Given the description of an element on the screen output the (x, y) to click on. 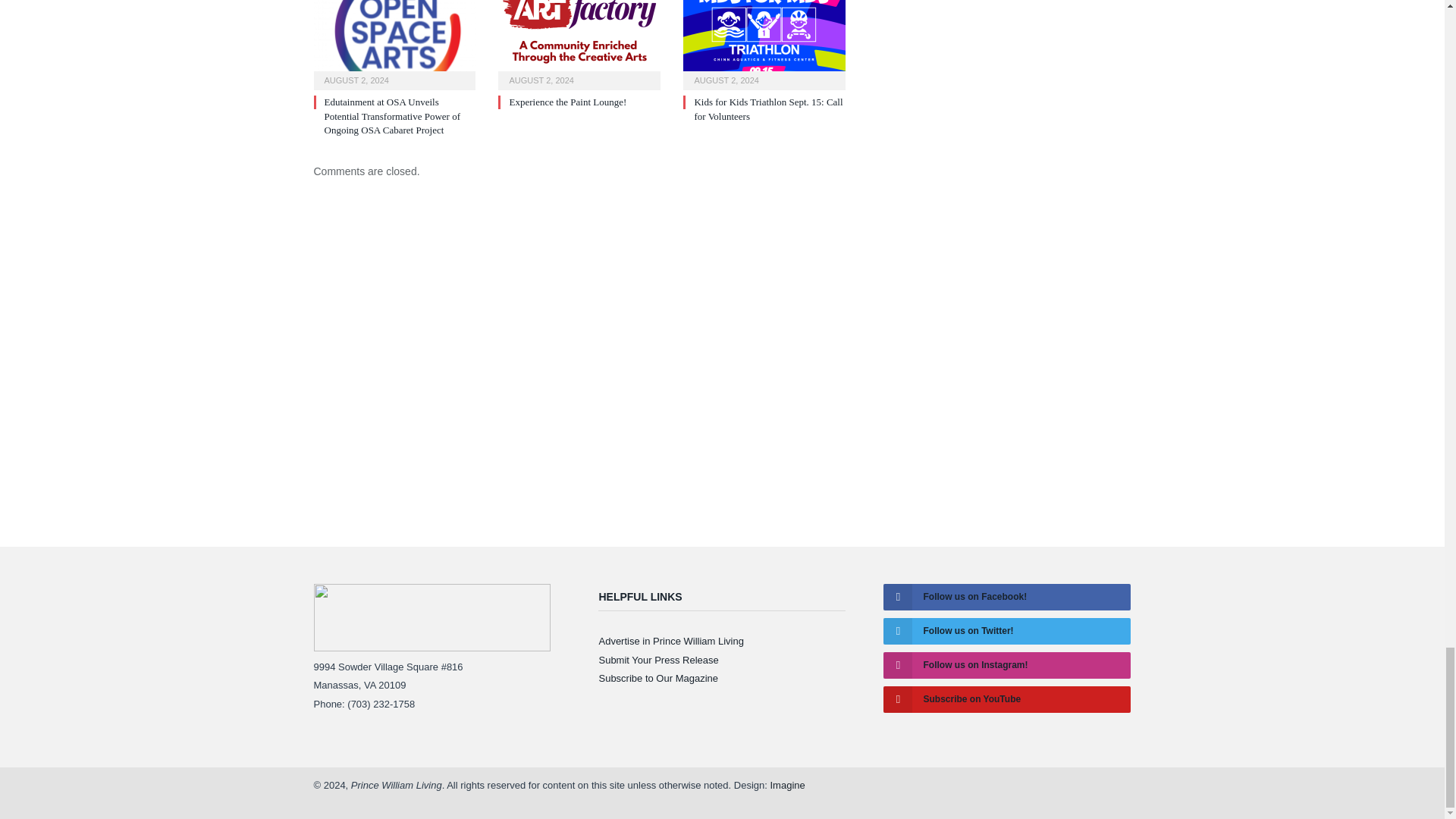
Experience the Paint Lounge! (579, 43)
Experience the Paint Lounge! (567, 101)
Kids for Kids Triathlon Sept. 15: Call for Volunteers (763, 43)
